Given the description of an element on the screen output the (x, y) to click on. 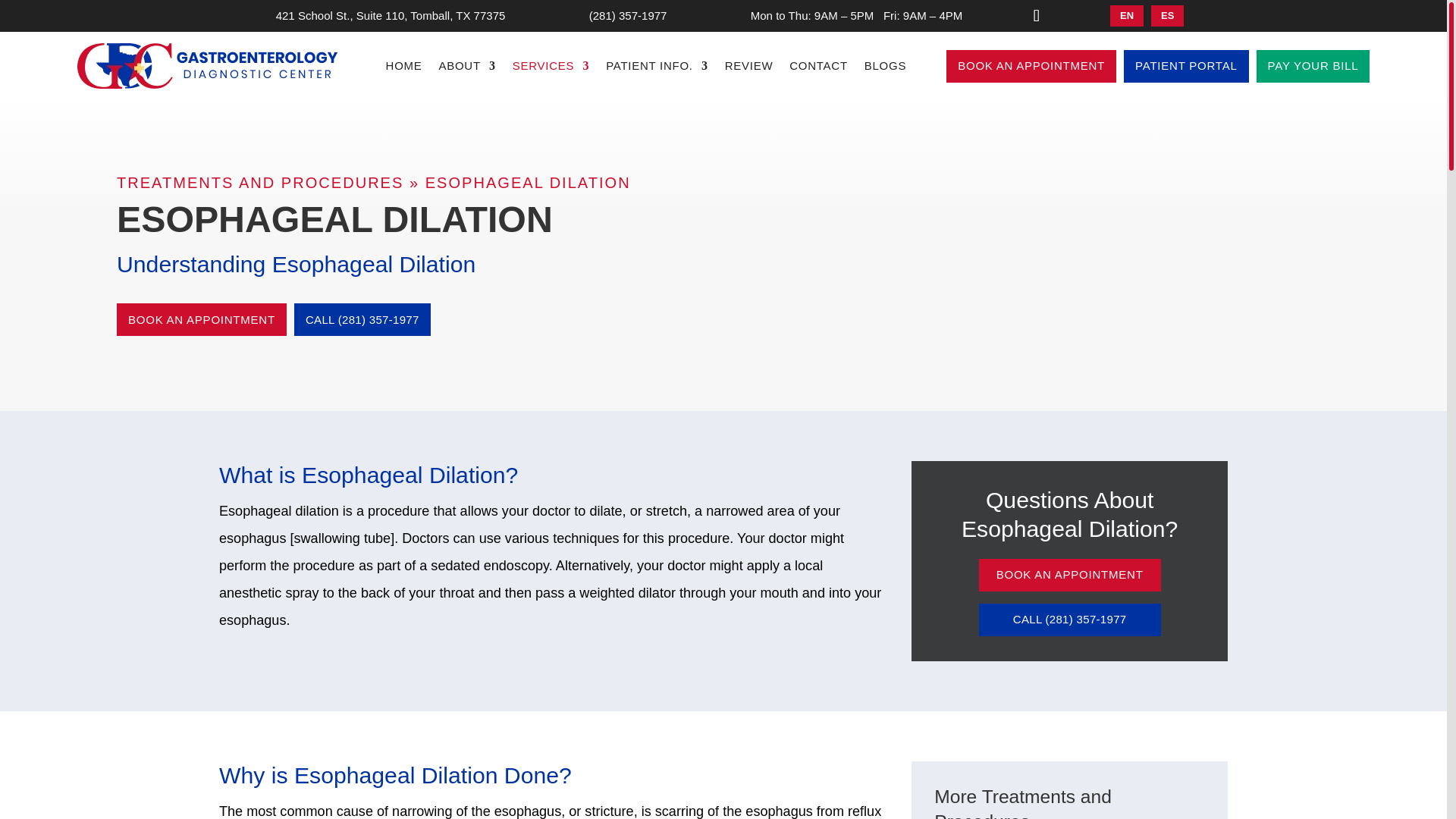
TREATMENTS AND PROCEDURES (259, 182)
BLOGS (884, 68)
ES (1167, 15)
BOOK AN APPOINTMENT (1031, 65)
CONTACT (818, 68)
HOME (403, 68)
BOOK AN APPOINTMENT (1069, 574)
PATIENT INFO. (656, 68)
EN (1125, 15)
SERVICES (550, 68)
